Given the description of an element on the screen output the (x, y) to click on. 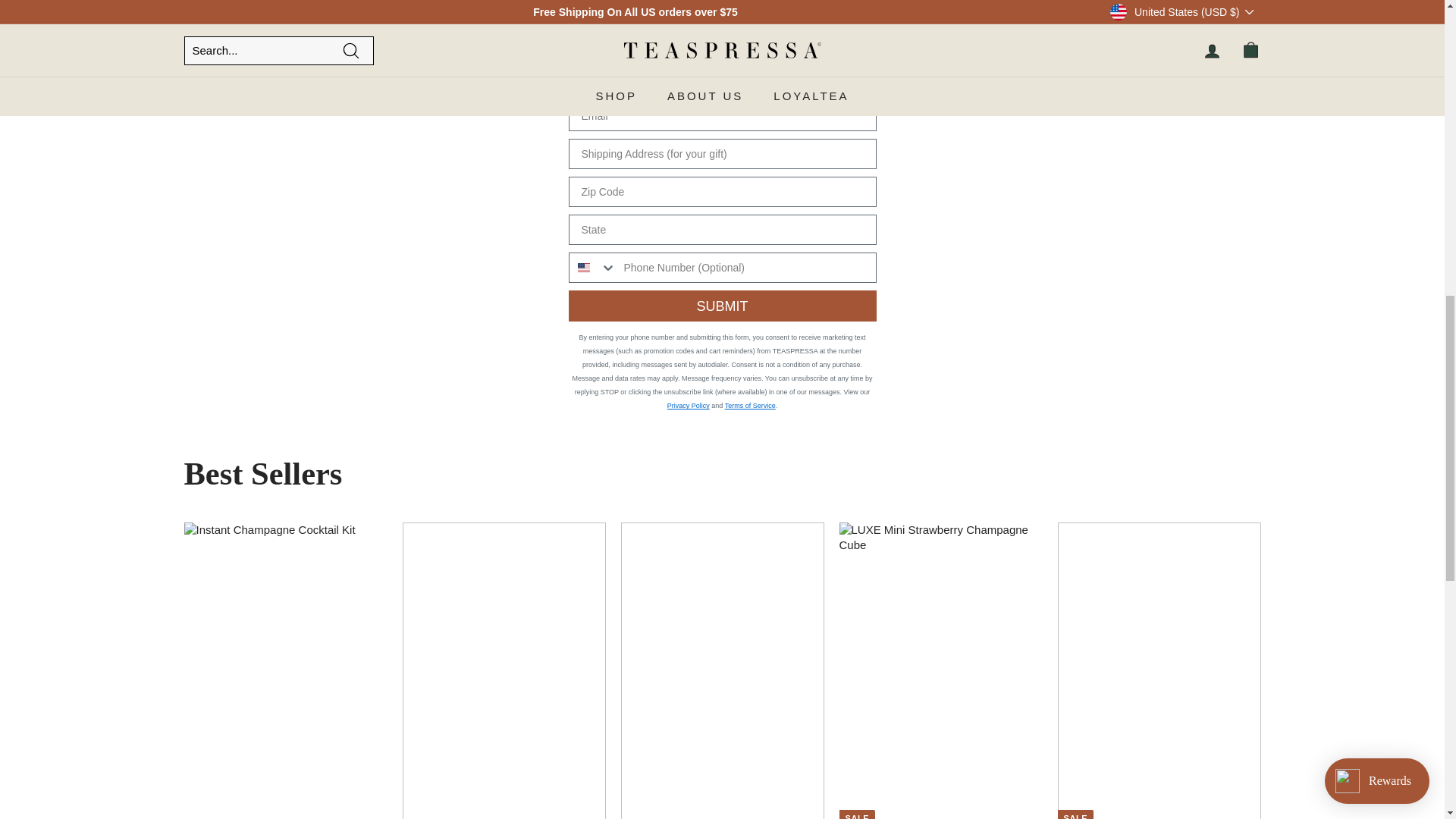
United States (583, 267)
